Given the description of an element on the screen output the (x, y) to click on. 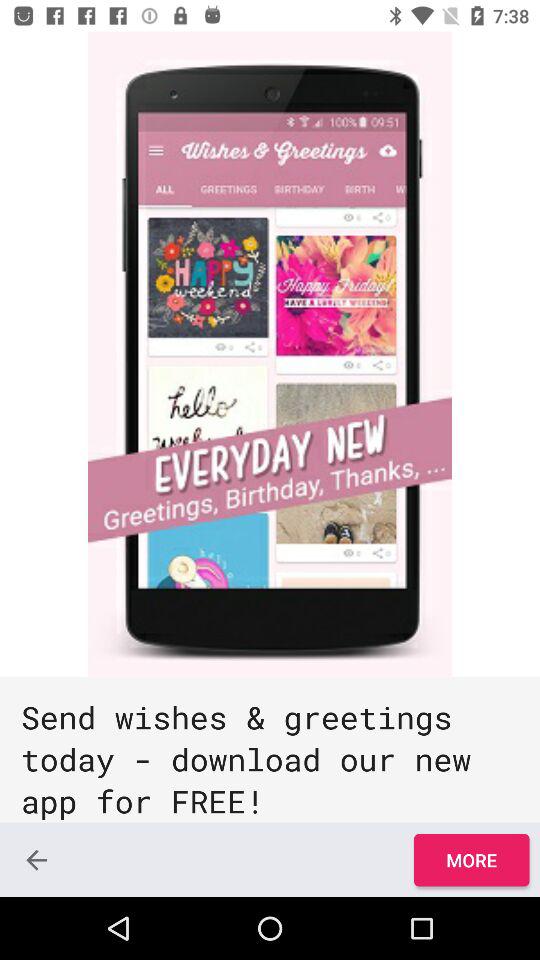
jump to send wishes greetings item (270, 749)
